Given the description of an element on the screen output the (x, y) to click on. 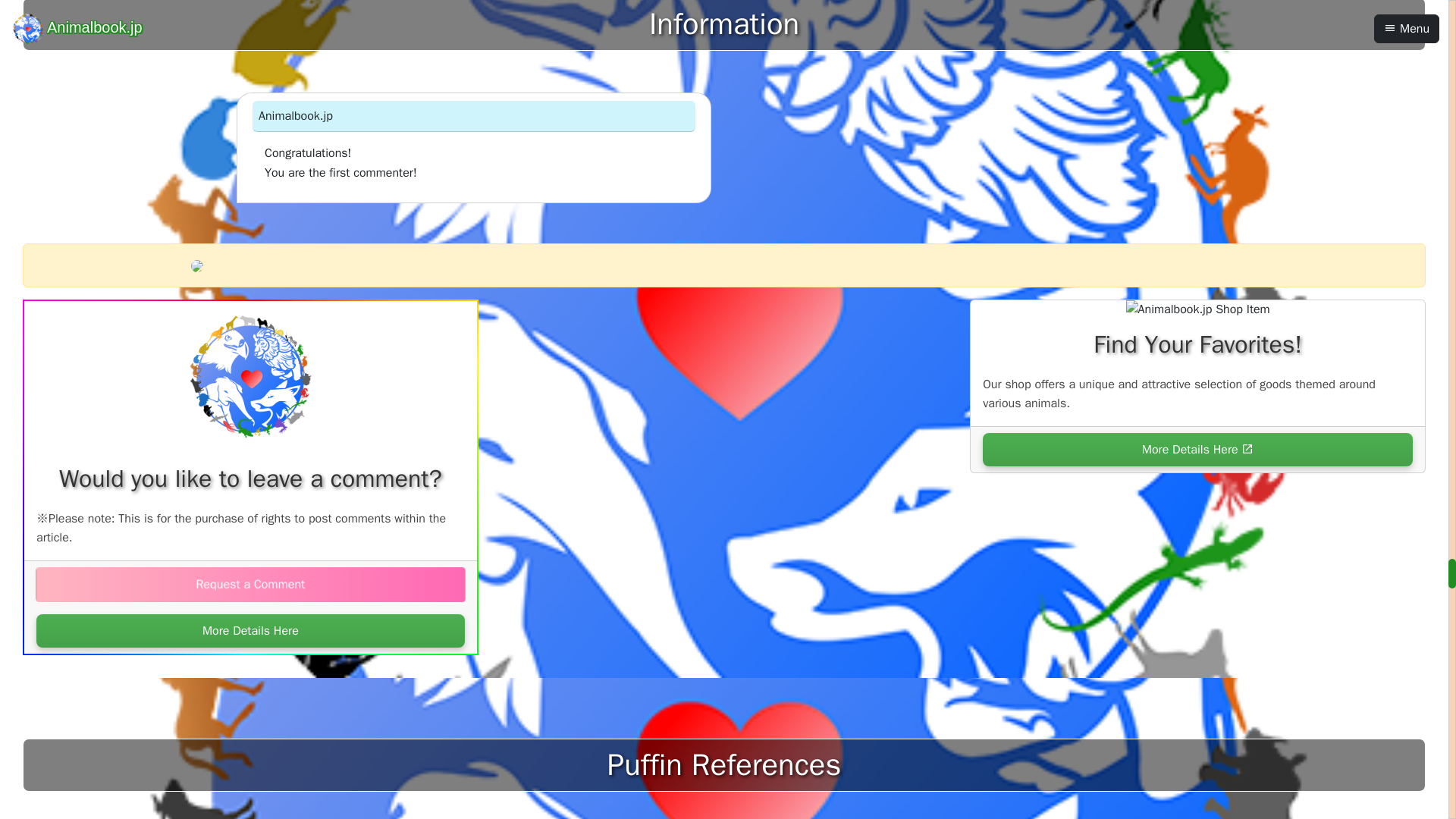
More Details Here (250, 630)
More Details Here  (1197, 449)
Request a Comment (245, 583)
